Given the description of an element on the screen output the (x, y) to click on. 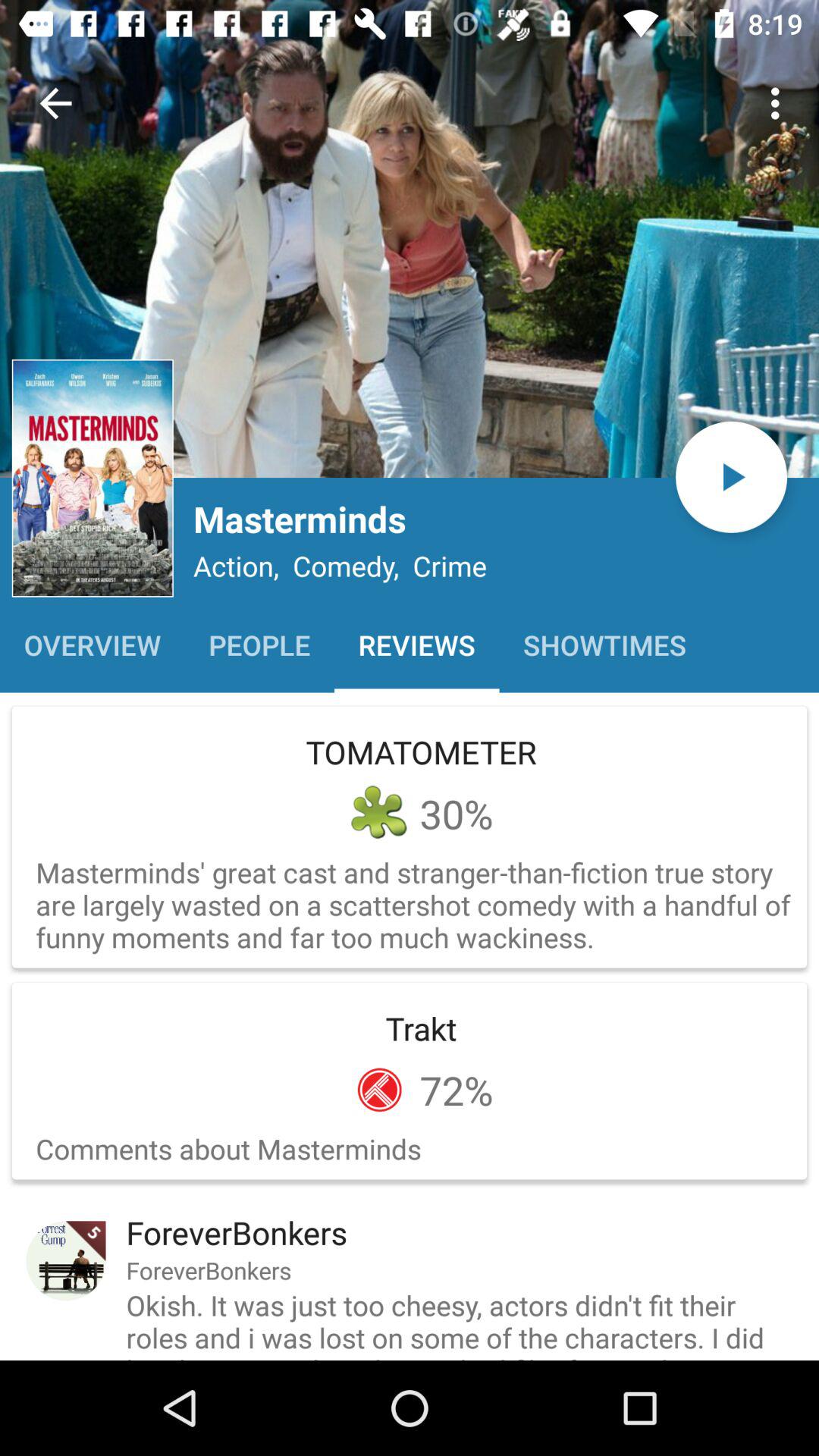
open image (409, 238)
